Given the description of an element on the screen output the (x, y) to click on. 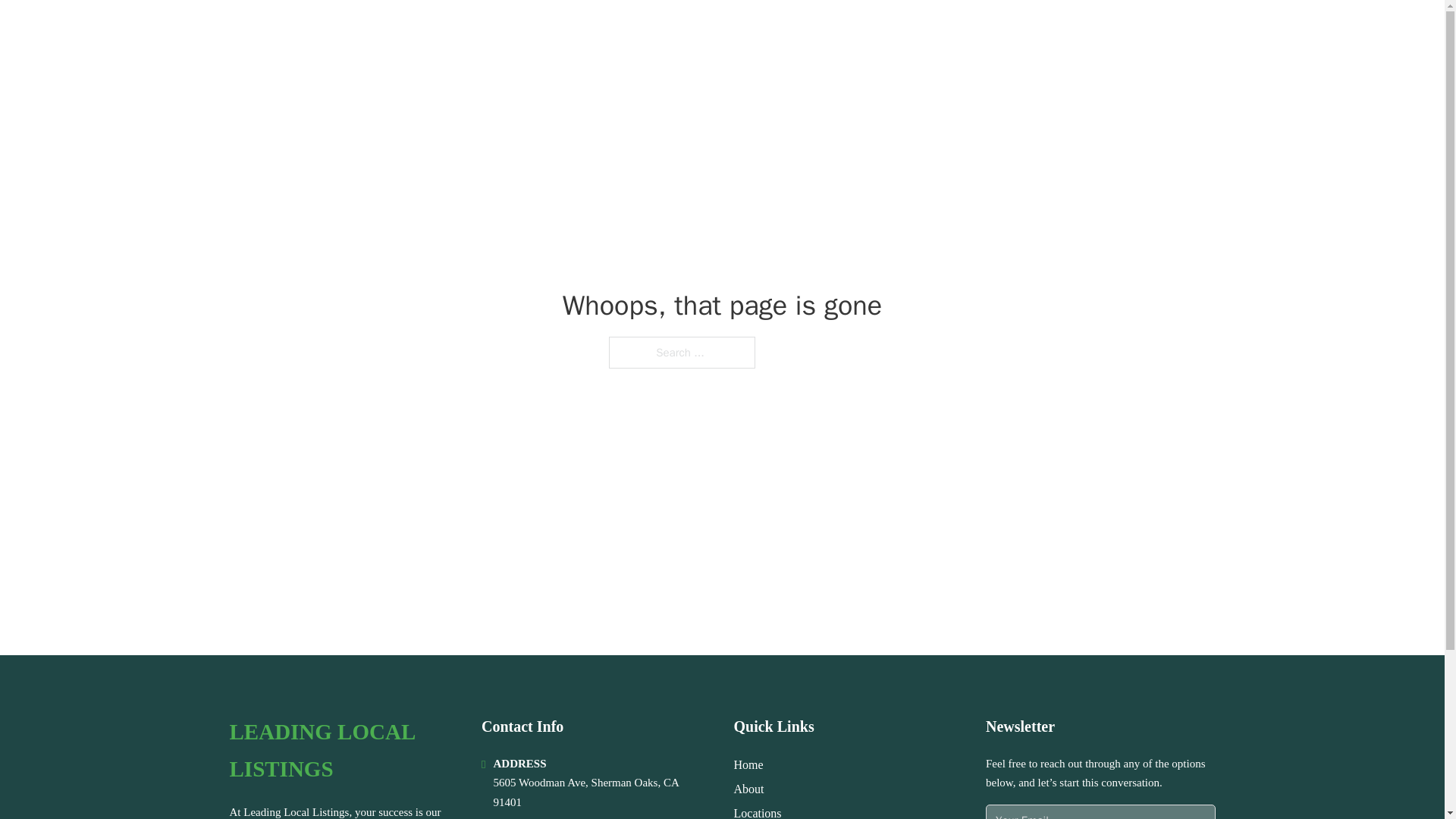
LEADING LOCAL LISTINGS (391, 31)
About (748, 788)
LEADING LOCAL LISTINGS (343, 750)
HOME (1025, 31)
Locations (757, 811)
LOCATIONS (1098, 31)
Home (747, 764)
